Given the description of an element on the screen output the (x, y) to click on. 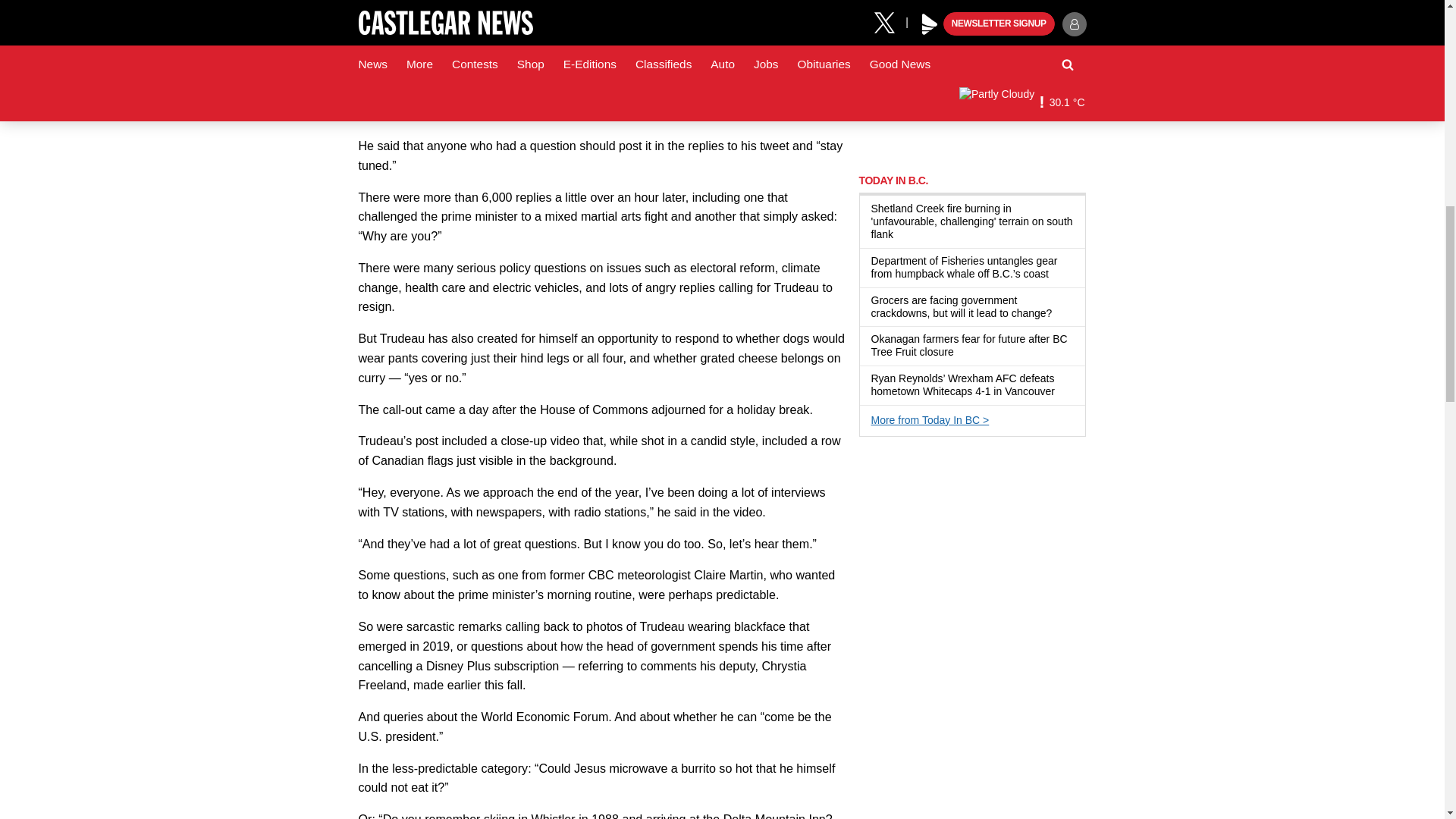
Has a gallery (902, 234)
